Given the description of an element on the screen output the (x, y) to click on. 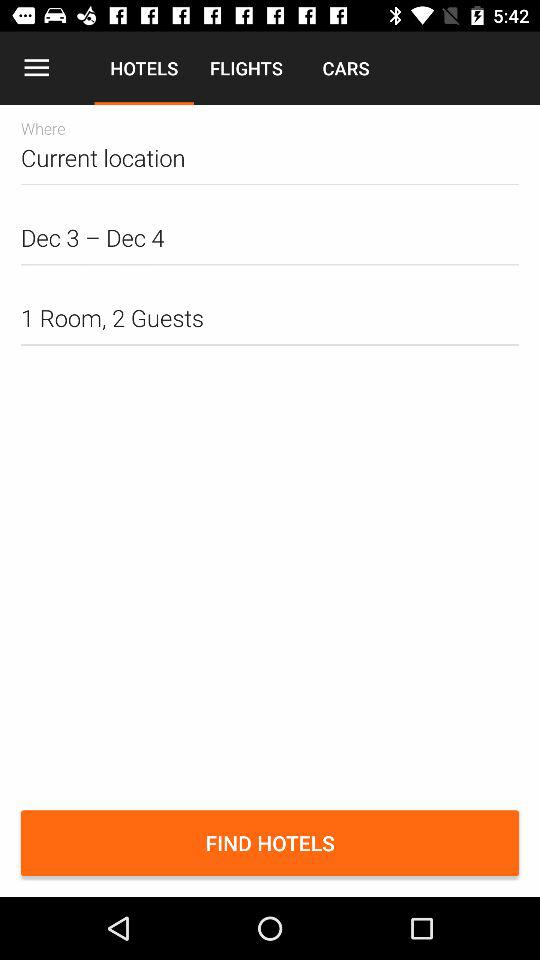
open find hotels item (270, 843)
